Given the description of an element on the screen output the (x, y) to click on. 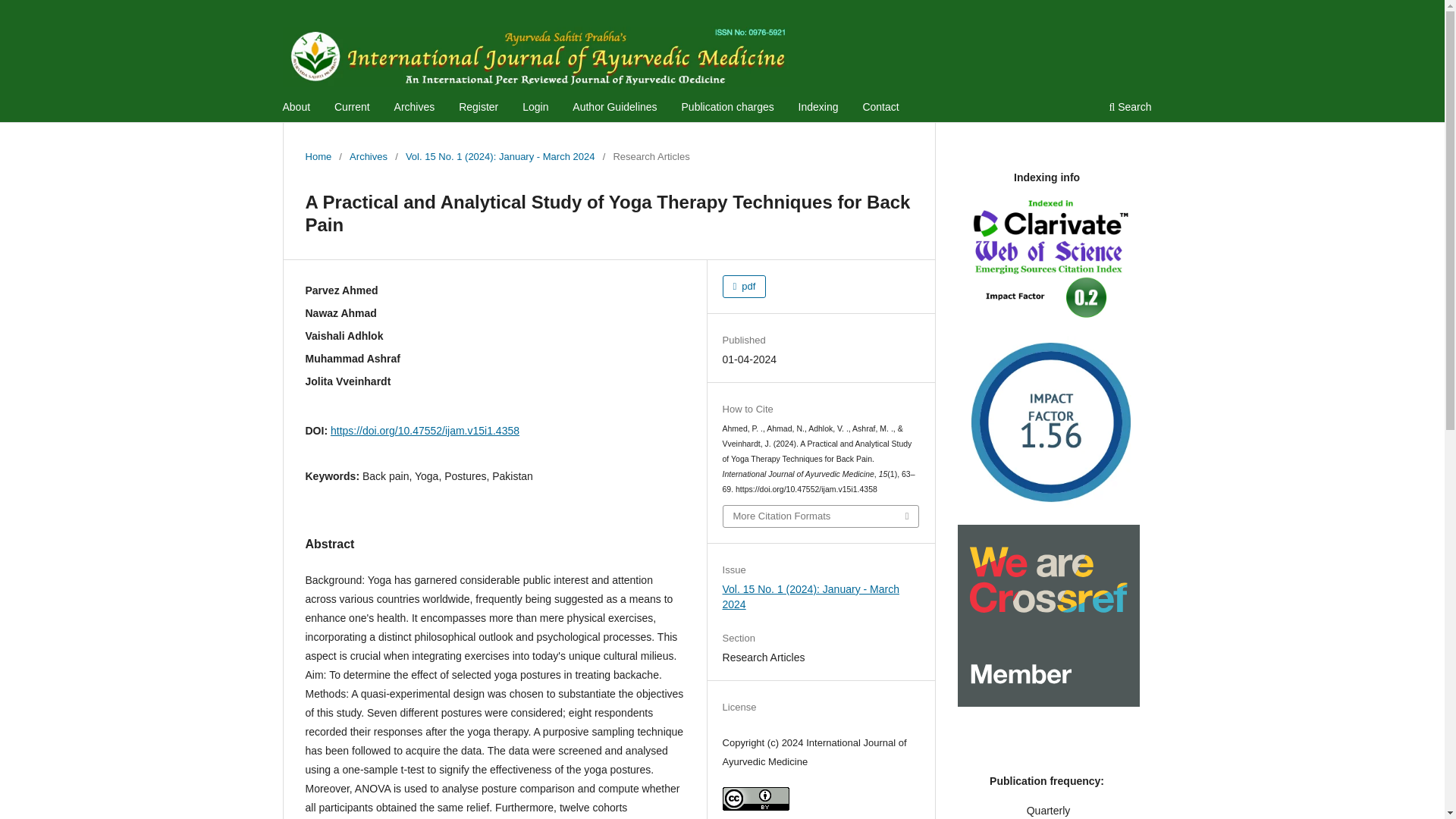
Archives (368, 156)
Search (1129, 108)
Register (477, 108)
Author Guidelines (614, 108)
About (296, 108)
Publication charges (727, 108)
Contact (880, 108)
Current (352, 108)
Login (534, 108)
Home (317, 156)
